Given the description of an element on the screen output the (x, y) to click on. 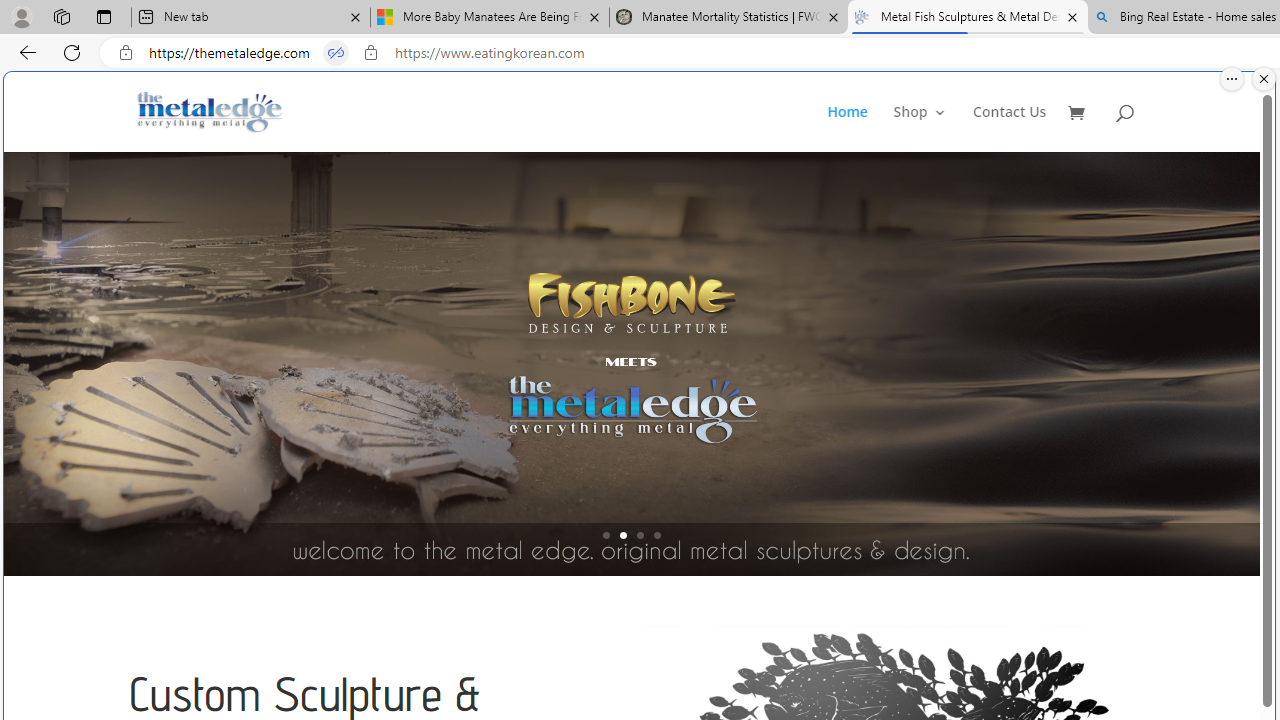
Home (846, 128)
More options. (1232, 79)
Contact Us (1009, 128)
Shop3 (931, 128)
Shop 3 (920, 128)
1 (606, 535)
Home (857, 128)
4 (657, 535)
2 (623, 535)
3 (640, 535)
Metal Fish Sculptures & Metal Designs (210, 111)
